Given the description of an element on the screen output the (x, y) to click on. 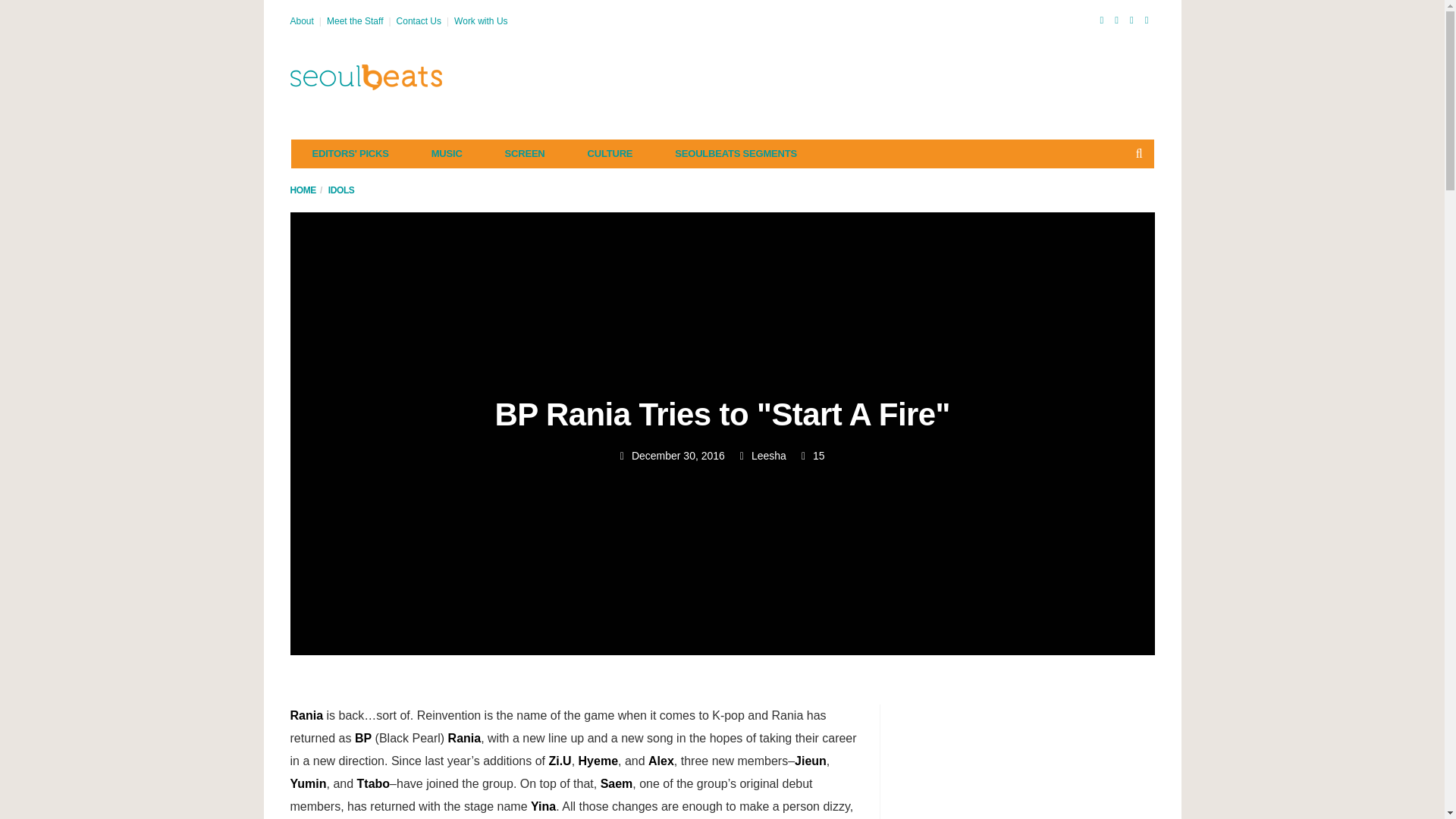
About (301, 20)
Youtube (1131, 19)
MUSIC (446, 153)
Contact Us (418, 20)
Meet the Staff (355, 20)
Work with Us (480, 20)
EDITORS' PICKS (350, 153)
Instagram (1146, 19)
Facebook (1101, 19)
